Given the description of an element on the screen output the (x, y) to click on. 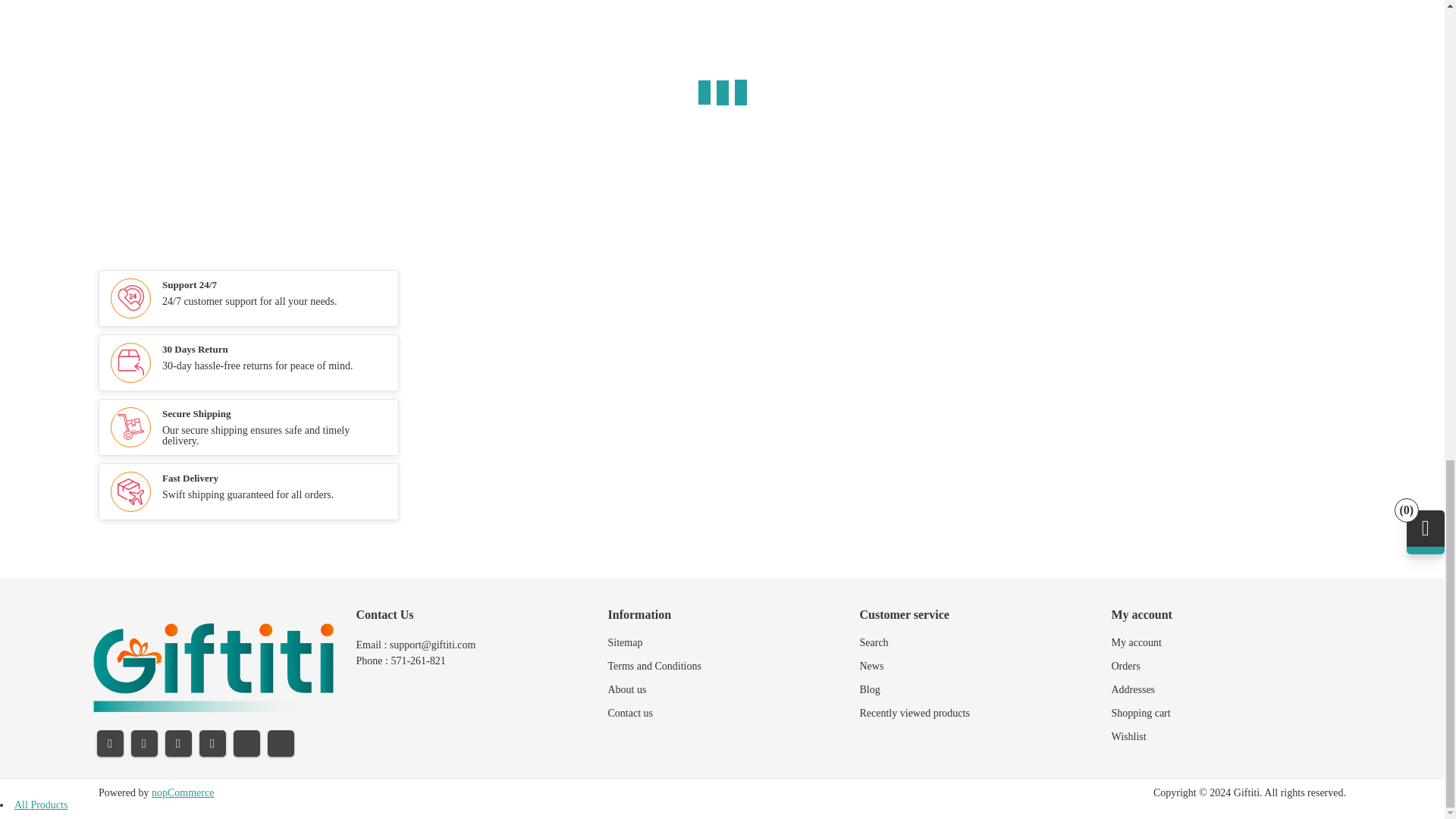
Picture of 30 Days Return (130, 361)
Logo of Giftiti (213, 667)
Picture of Secure Shipping (130, 426)
Picture of Fast Delivery (130, 491)
